Given the description of an element on the screen output the (x, y) to click on. 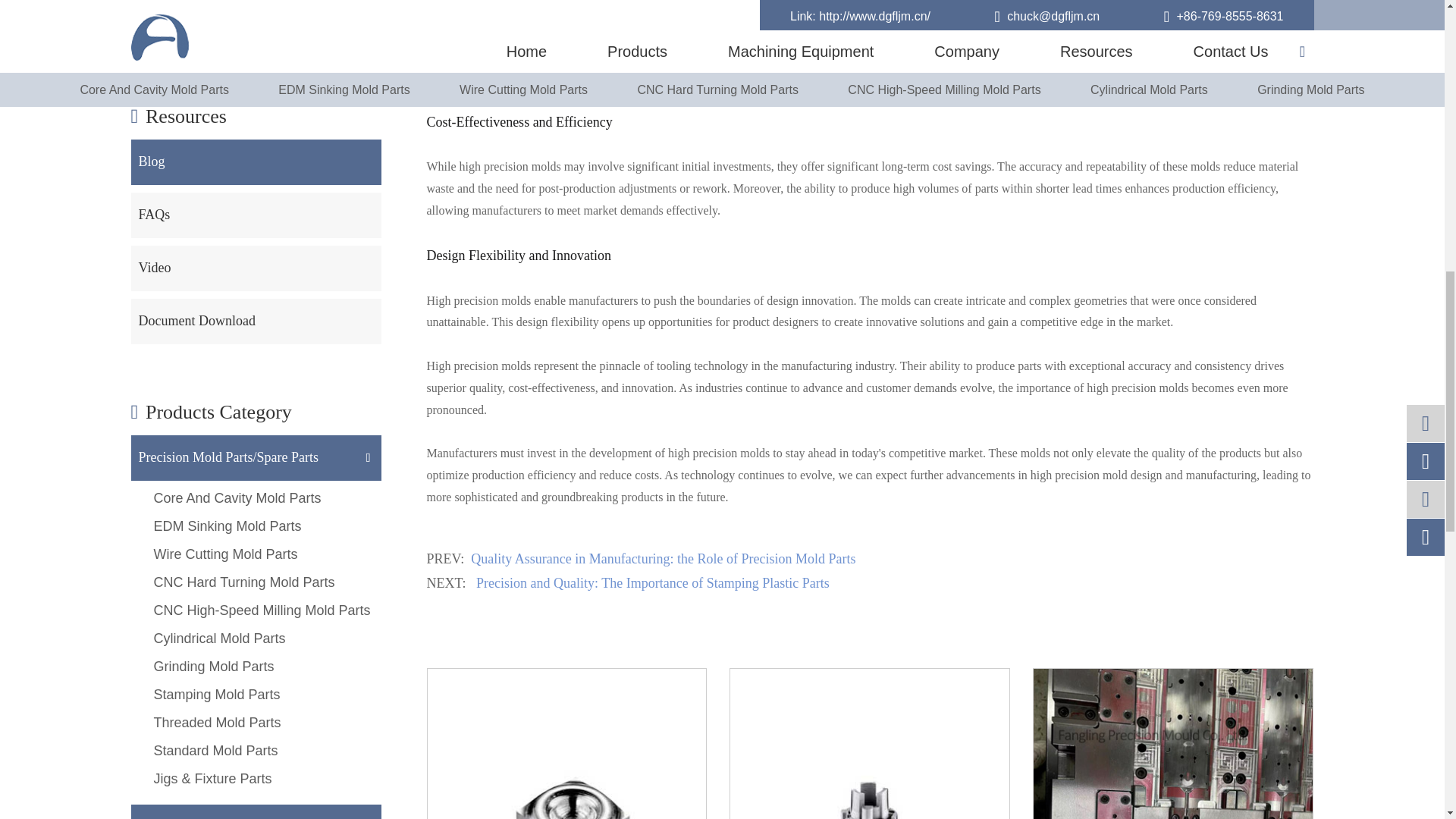
Falling Stars Mold (1173, 744)
Cylindrical Mold Parts (869, 744)
CNC High-Speed Milling Mold Parts (567, 744)
